Given the description of an element on the screen output the (x, y) to click on. 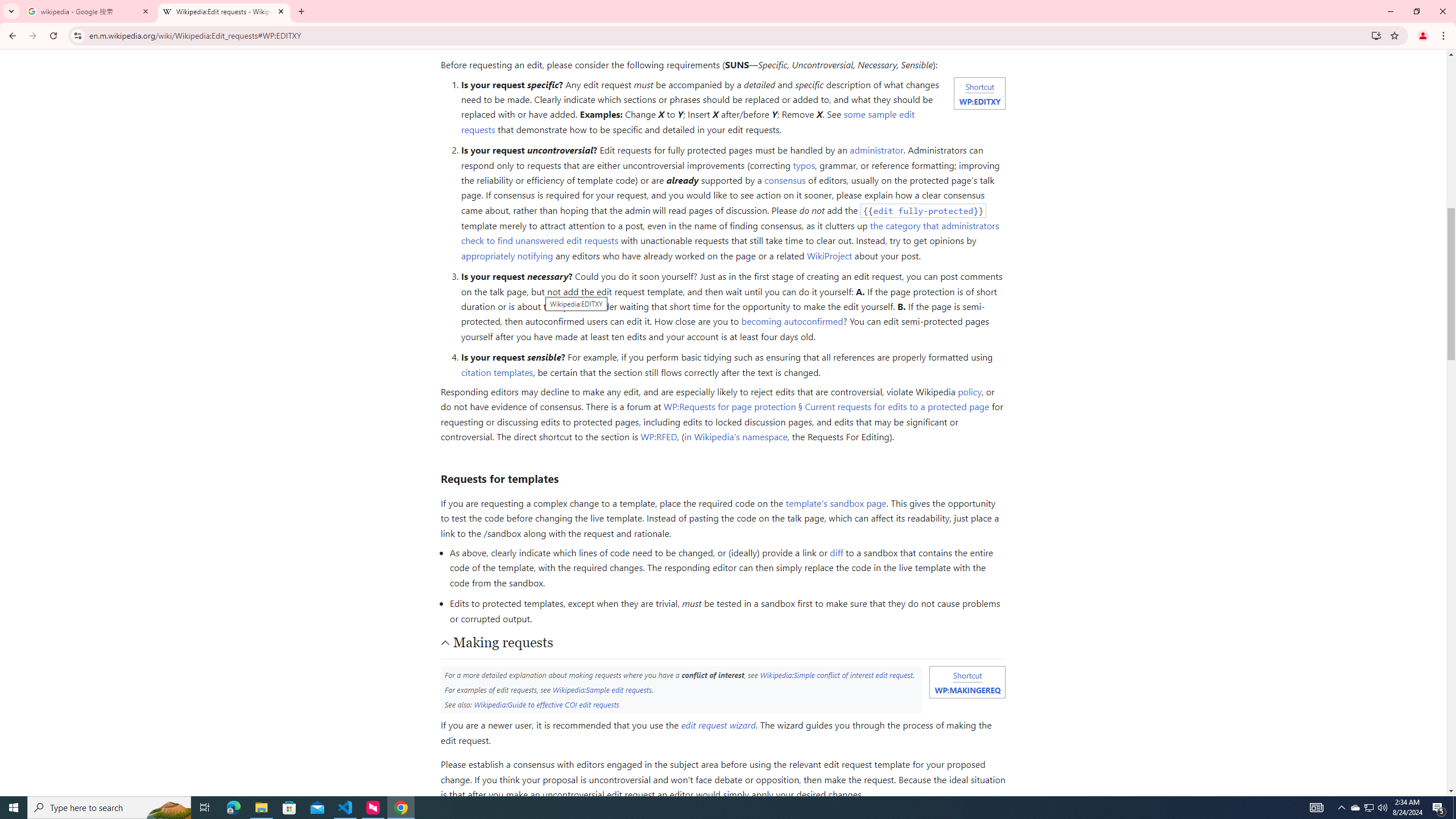
edit request wizard (718, 725)
becoming autoconfirmed (792, 321)
in Wikipedia's namespace (735, 436)
diff (836, 552)
Wikipedia:Sample edit requests (601, 688)
WP:MAKINGEREQ (967, 689)
Install Wikipedia (1376, 35)
consensus (785, 179)
